Given the description of an element on the screen output the (x, y) to click on. 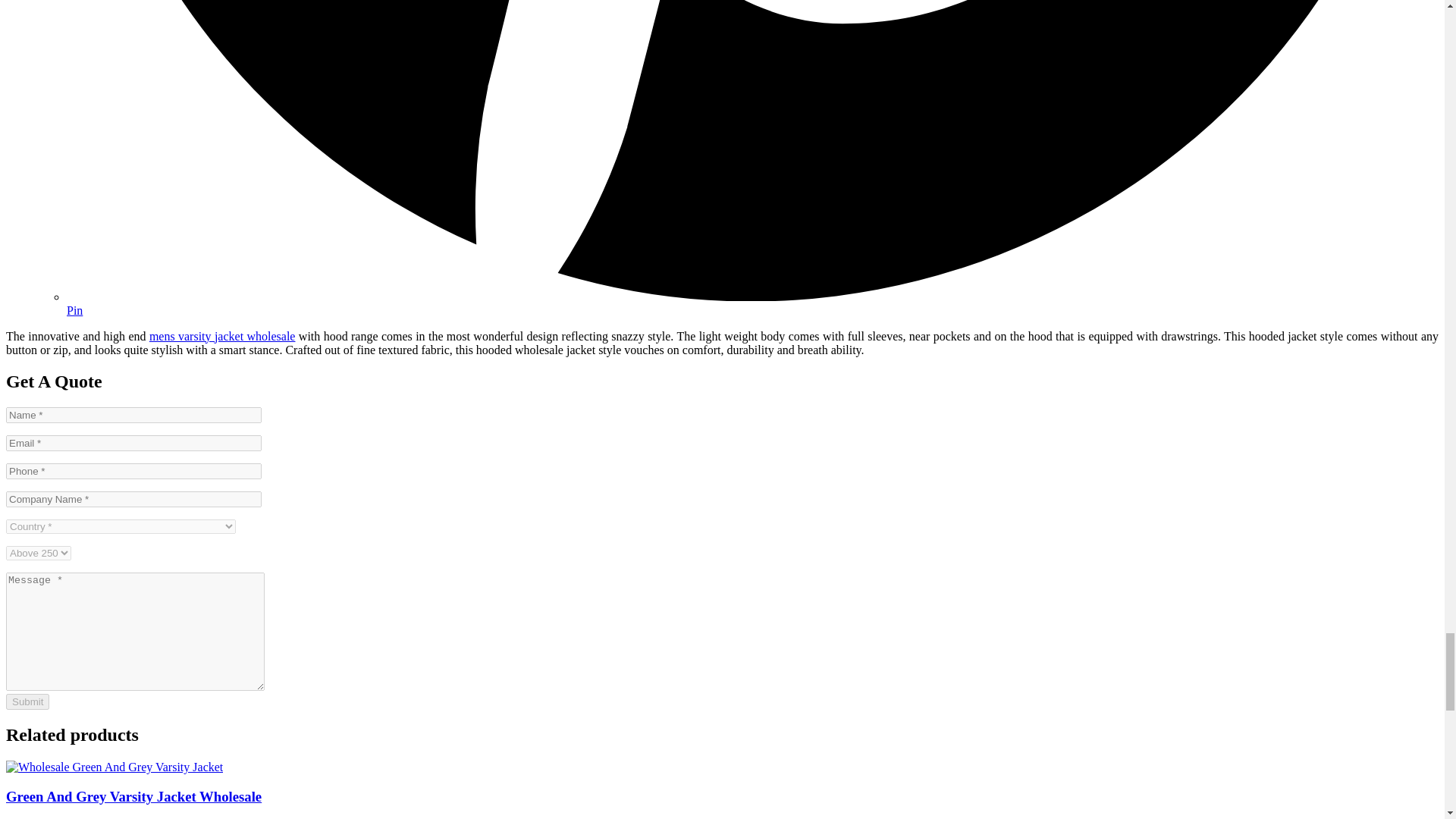
Submit (27, 701)
